Given the description of an element on the screen output the (x, y) to click on. 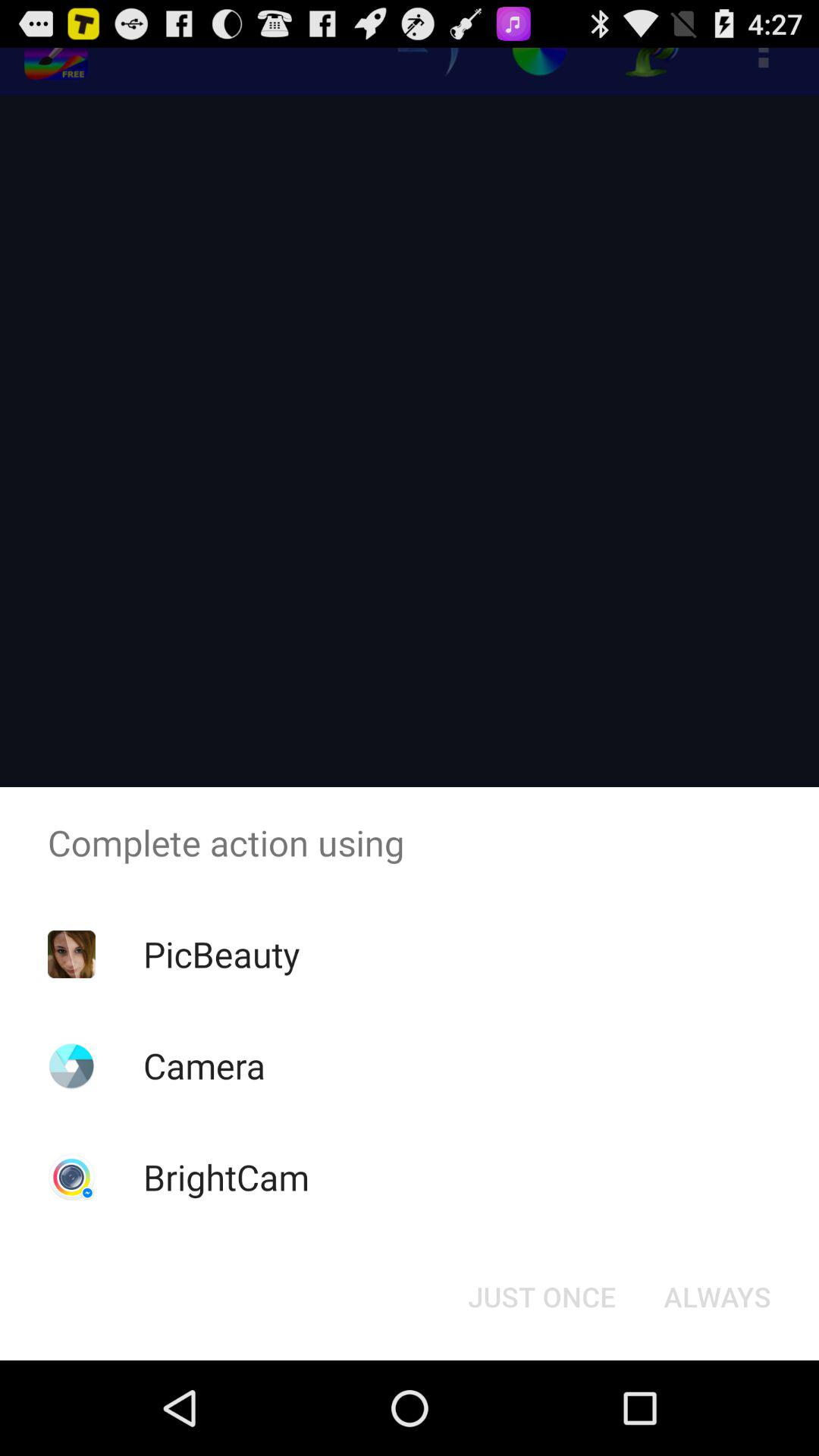
turn on item at the bottom right corner (717, 1296)
